Given the description of an element on the screen output the (x, y) to click on. 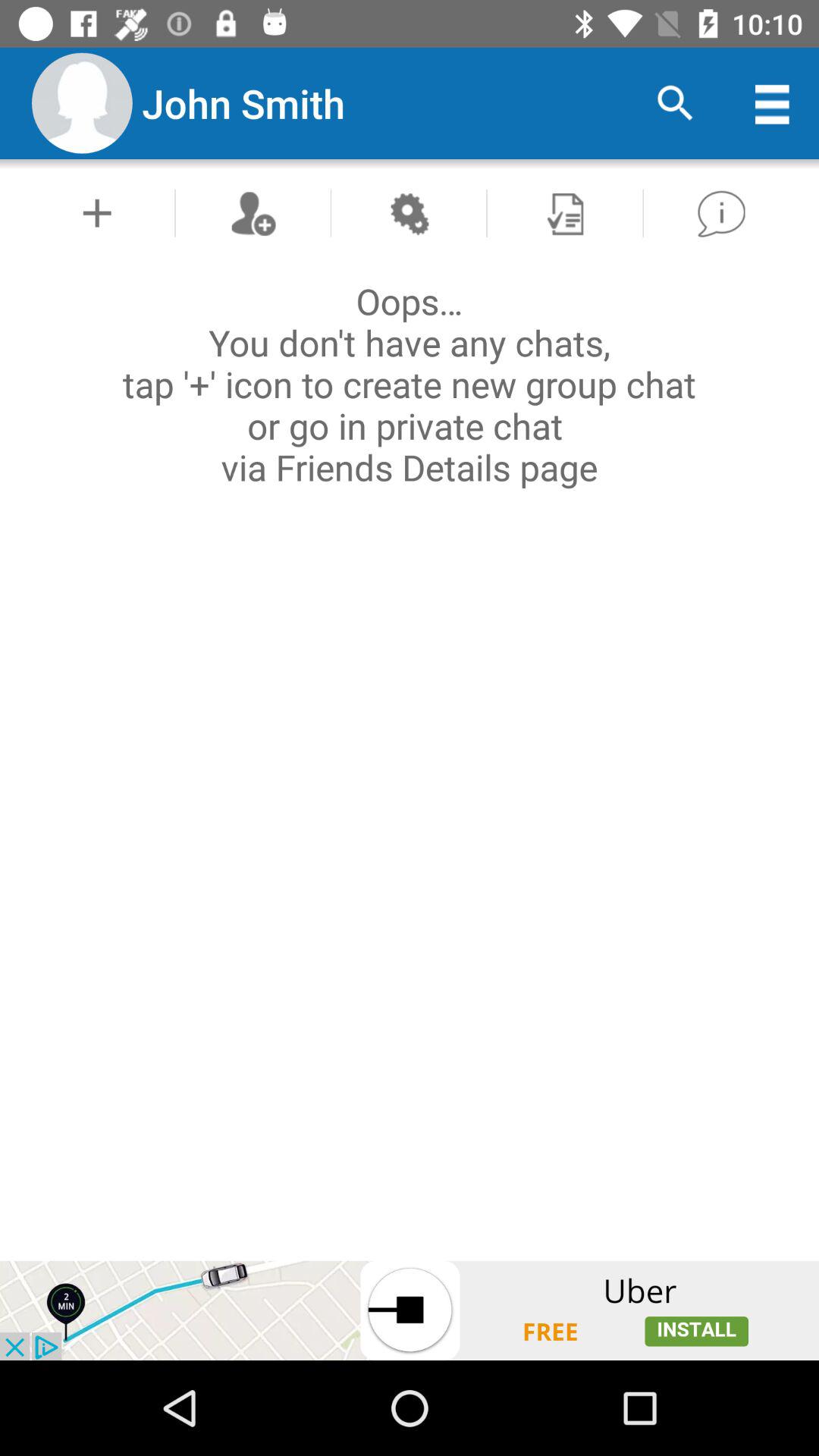
add personal details (97, 213)
